Given the description of an element on the screen output the (x, y) to click on. 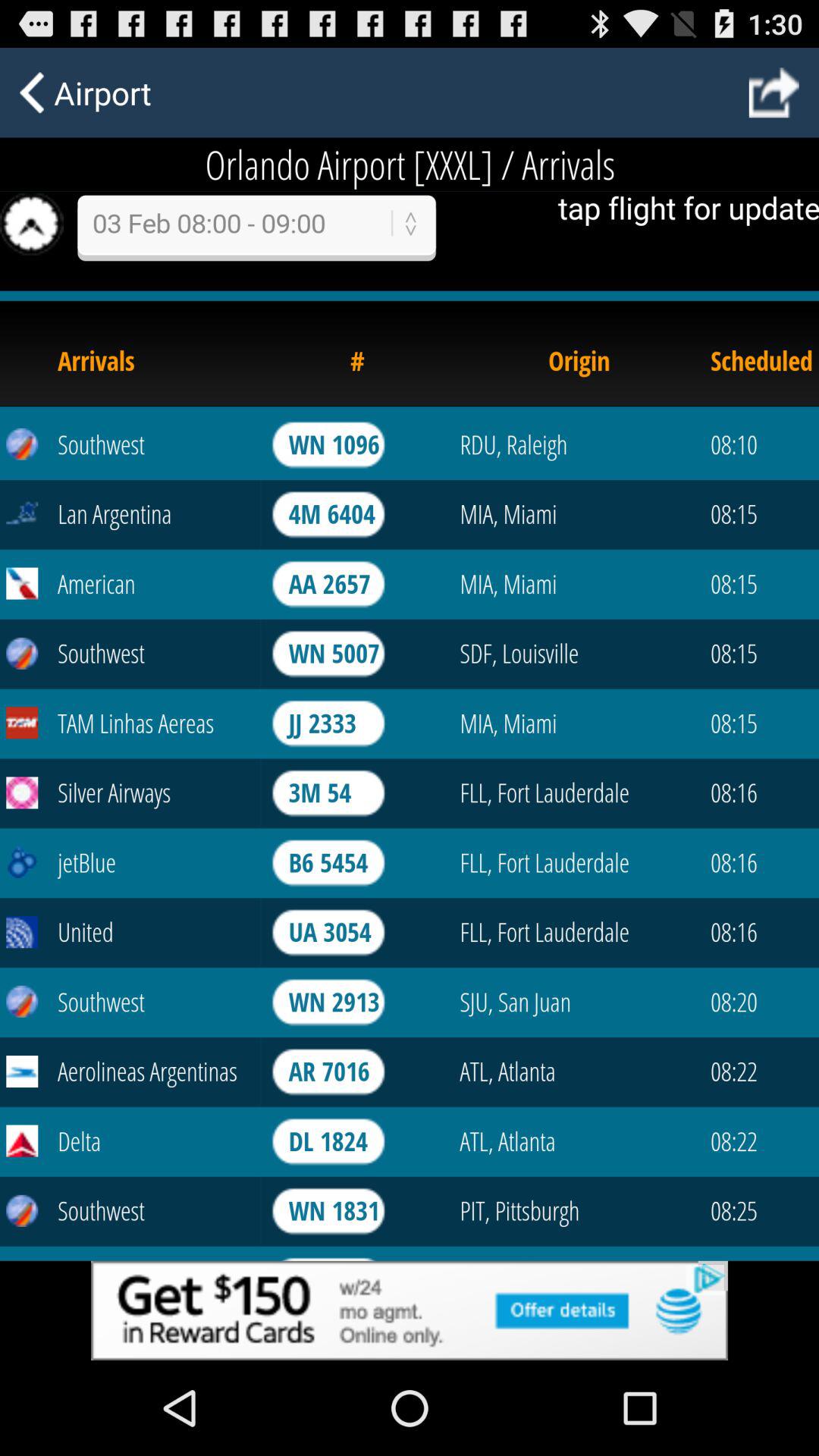
refresh page (409, 698)
